Given the description of an element on the screen output the (x, y) to click on. 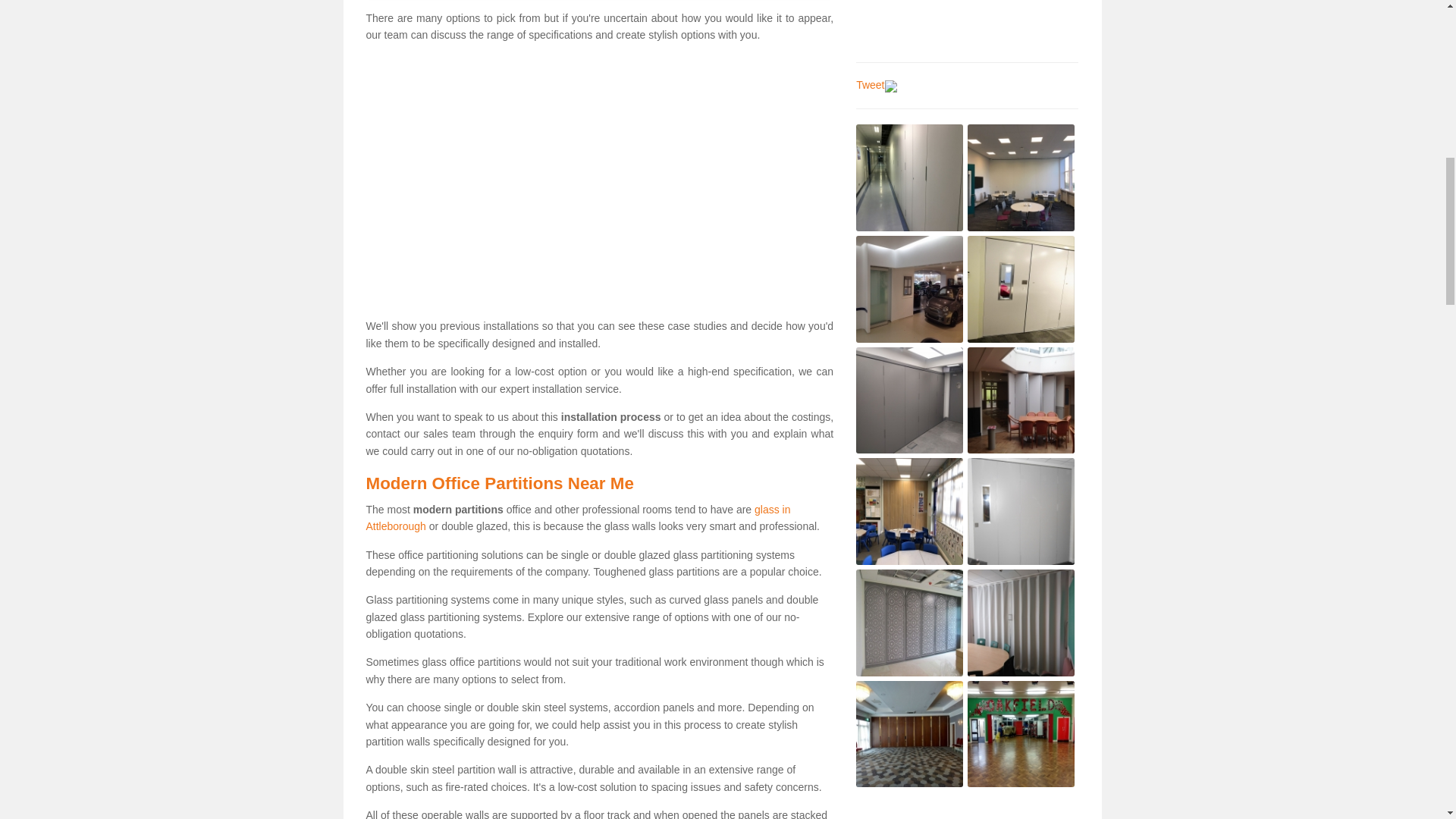
Meeting Room Partitions in Attleborough 3 (909, 289)
Meeting Room Partitions in Attleborough 11 (909, 733)
Meeting Room Partitions in Attleborough 6 (1021, 400)
Meeting Room Partitions in Attleborough 7 (909, 511)
Meeting Room Partitions in Attleborough 9 (909, 622)
Meeting Room Partitions in Attleborough 12 (1021, 733)
glass in Attleborough (577, 517)
Meeting Room Partitions in Attleborough 2 (1021, 177)
Meeting Room Partitions in Attleborough 8 (1021, 511)
Meeting Room Partitions in Attleborough 1 (909, 177)
Meeting Room Partitions in Attleborough 4 (1021, 289)
Meeting Room Partitions in Attleborough 10 (1021, 622)
Meeting Room Partitions in Attleborough 5 (909, 400)
